Given the description of an element on the screen output the (x, y) to click on. 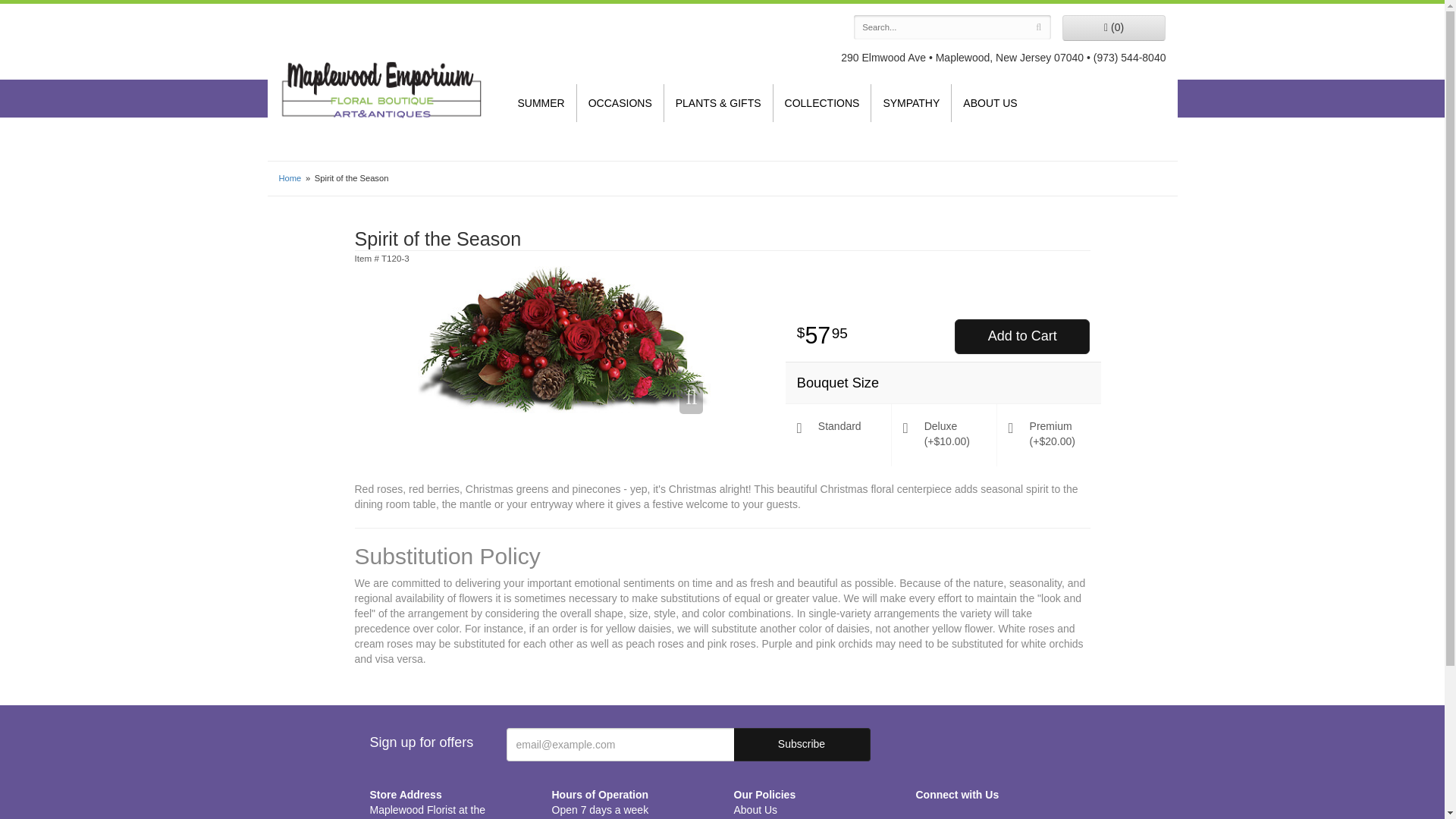
OCCASIONS (619, 103)
Subscribe (801, 744)
SYMPATHY (910, 103)
SUMMER (541, 103)
ABOUT US (989, 103)
COLLECTIONS (821, 103)
